Given the description of an element on the screen output the (x, y) to click on. 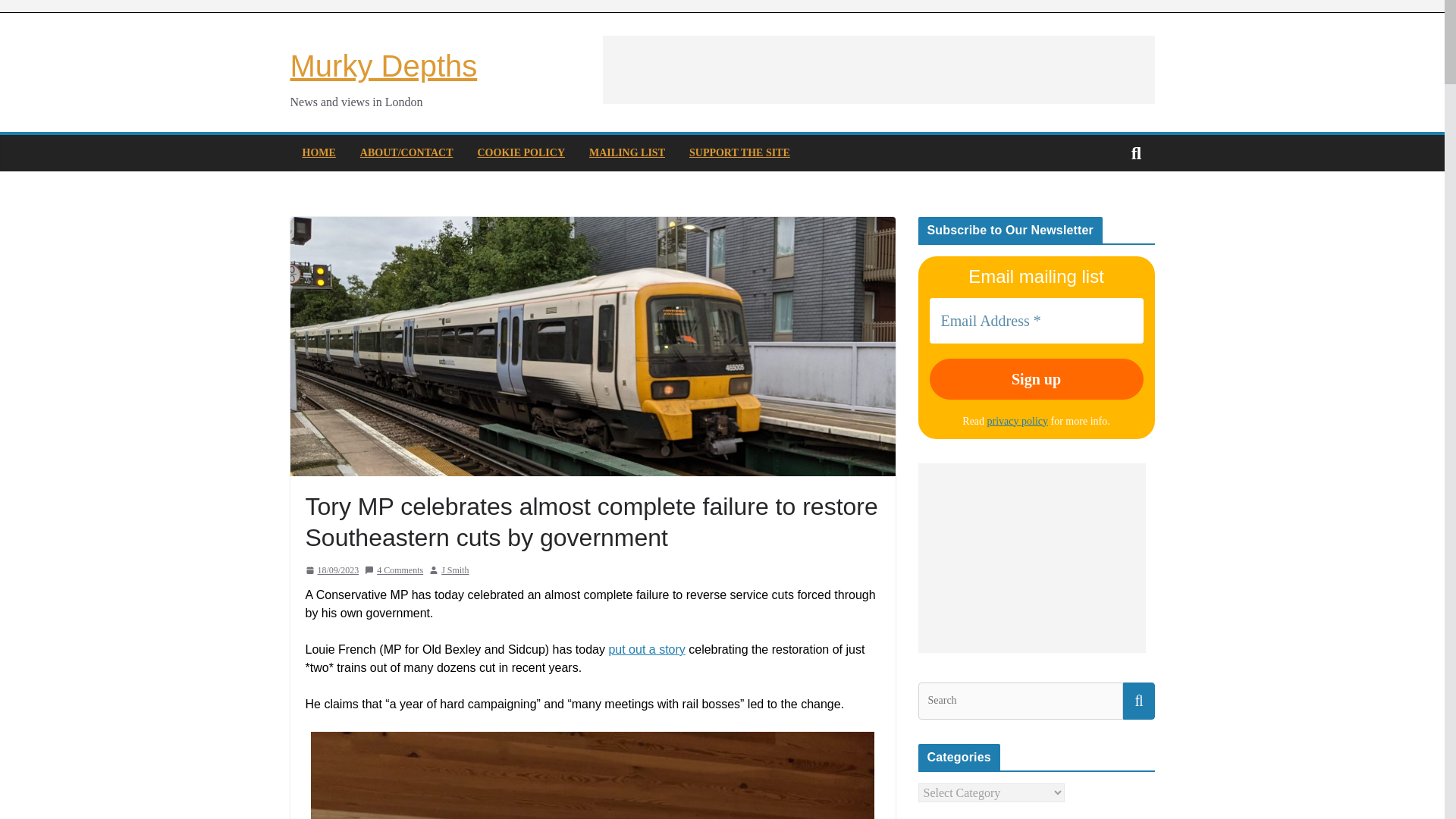
MAILING LIST (627, 152)
J Smith (454, 570)
COOKIE POLICY (521, 152)
Advertisement (878, 70)
put out a story (646, 649)
Sign up (1036, 378)
Murky Depths (383, 65)
10:33 (331, 570)
Murky Depths (383, 65)
SUPPORT THE SITE (739, 152)
J Smith (454, 570)
4 Comments (394, 570)
HOME (317, 152)
